Given the description of an element on the screen output the (x, y) to click on. 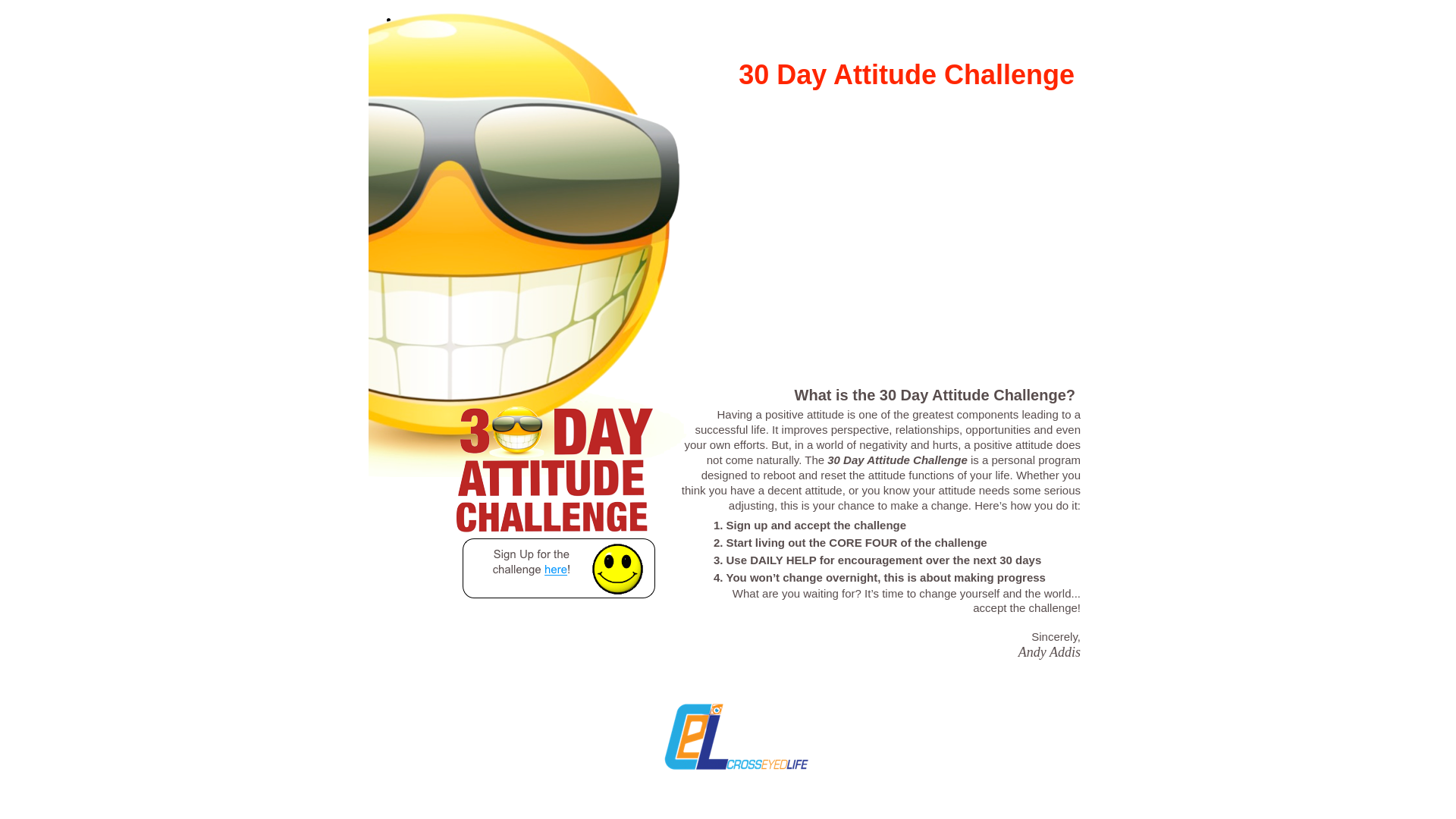
CORE FOUR Element type: text (862, 542)
Sign up Element type: text (747, 524)
DAILY HELP Element type: text (782, 559)
Andy Addis Element type: text (1049, 651)
http://www.crosseyedlife.com Element type: hover (736, 775)
